Given the description of an element on the screen output the (x, y) to click on. 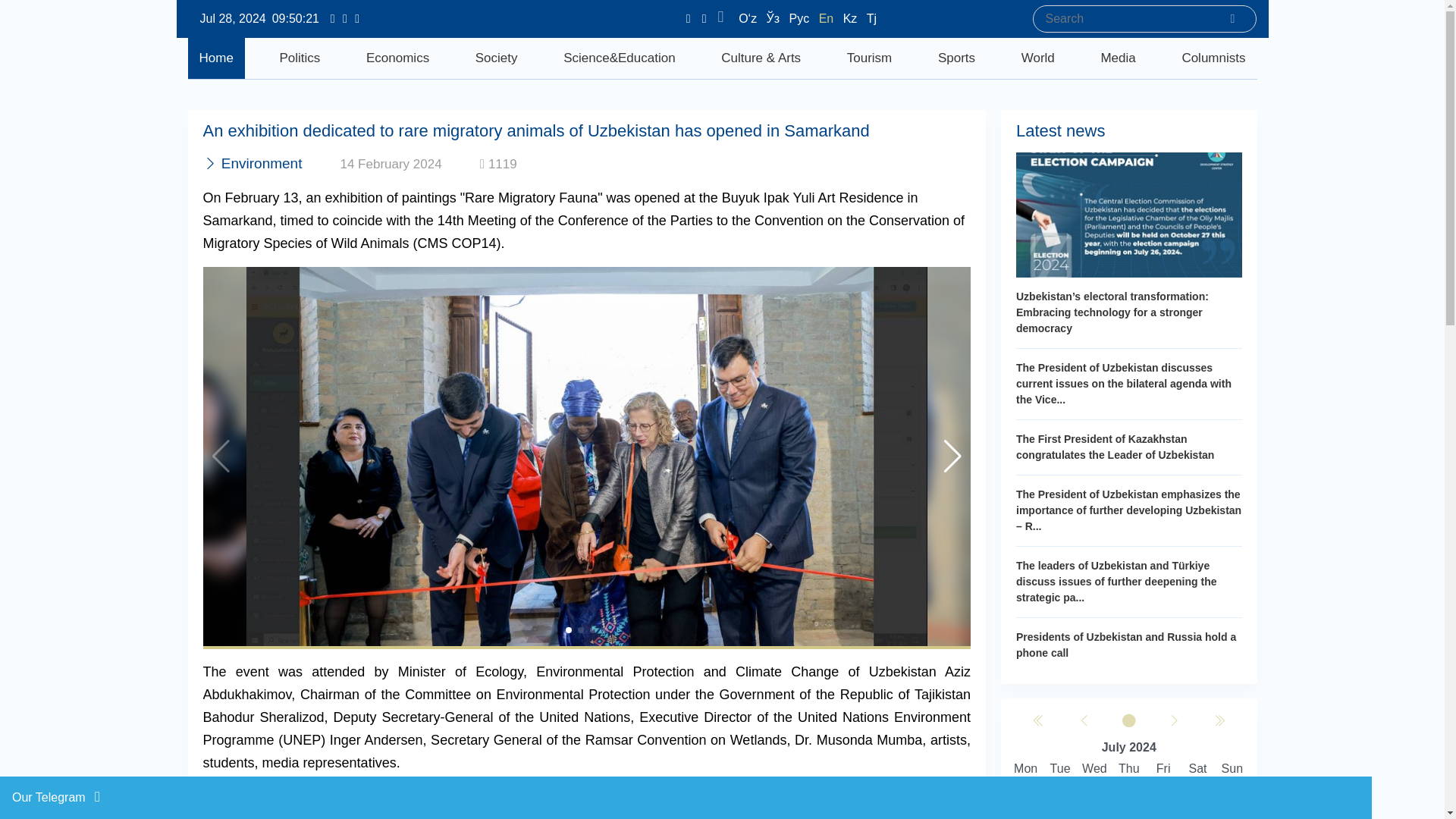
Previous year (1038, 721)
En (827, 18)
Politics (299, 57)
Next month (1173, 721)
Kz (851, 18)
Society (496, 57)
Monday (1025, 769)
Wednesday (1094, 769)
Previous month (1083, 721)
Saturday (1197, 769)
Economics (398, 57)
Thursday (1128, 769)
Sunday (1231, 769)
Friday (1162, 769)
Current month (1128, 721)
